Given the description of an element on the screen output the (x, y) to click on. 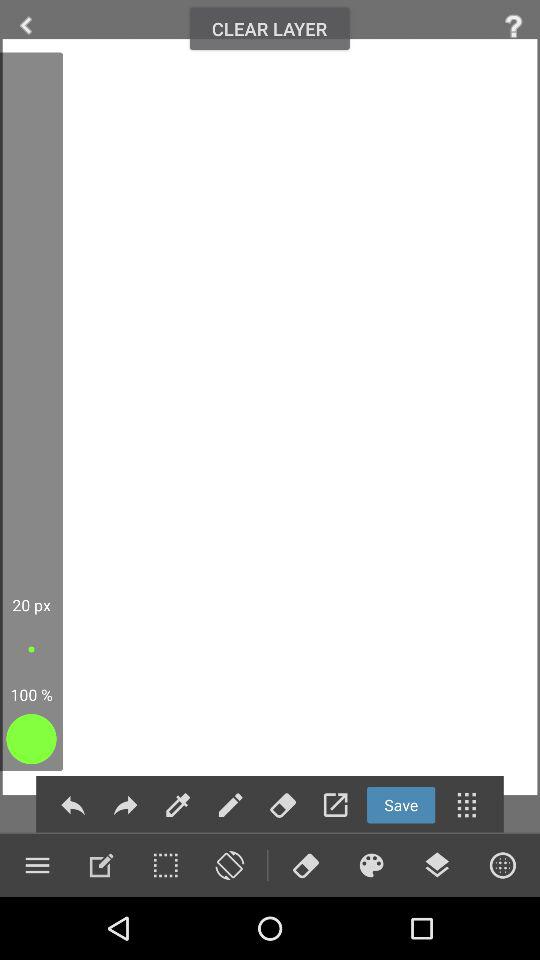
back button (72, 804)
